Given the description of an element on the screen output the (x, y) to click on. 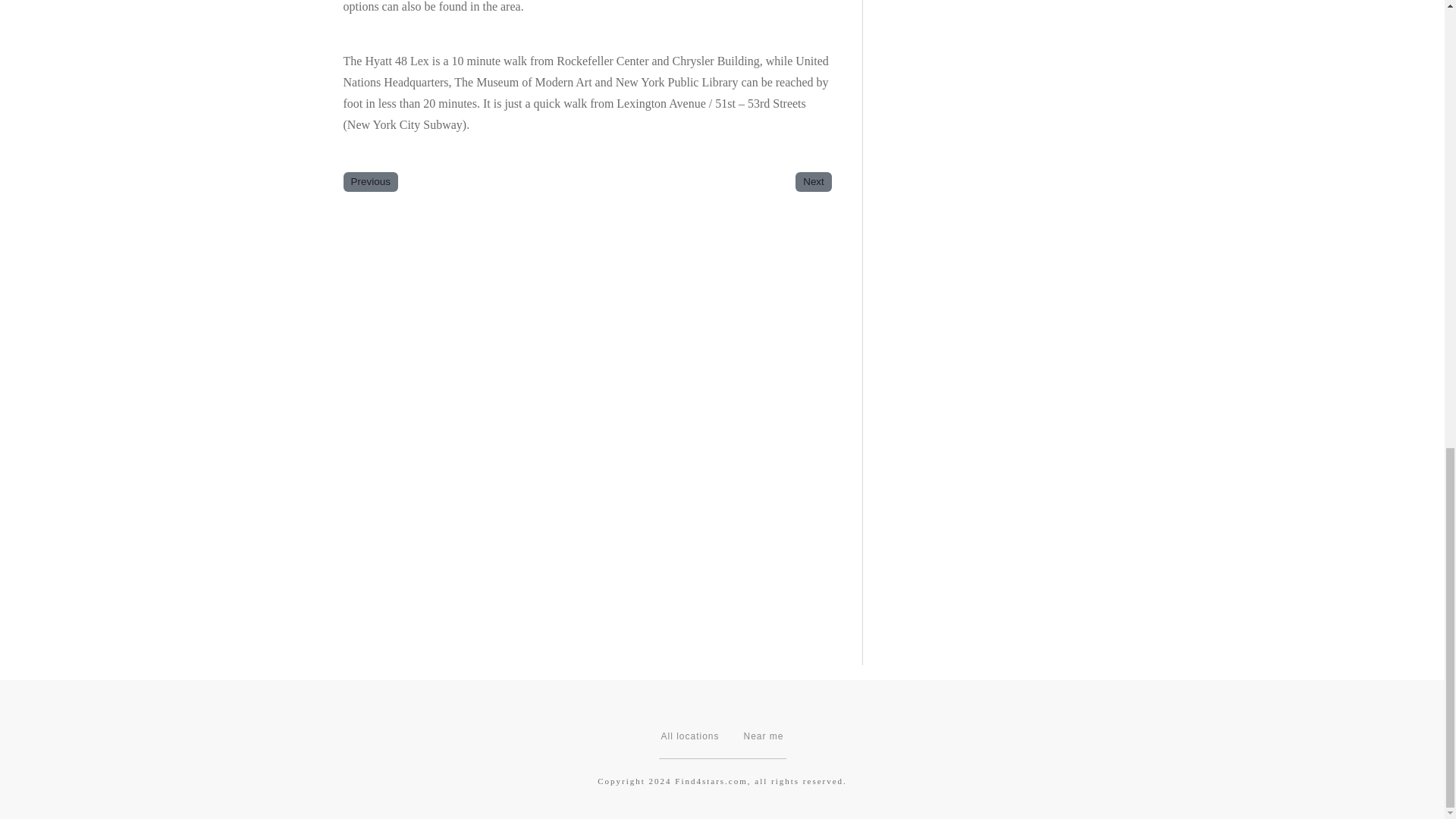
Previous (369, 180)
Next (812, 180)
